Given the description of an element on the screen output the (x, y) to click on. 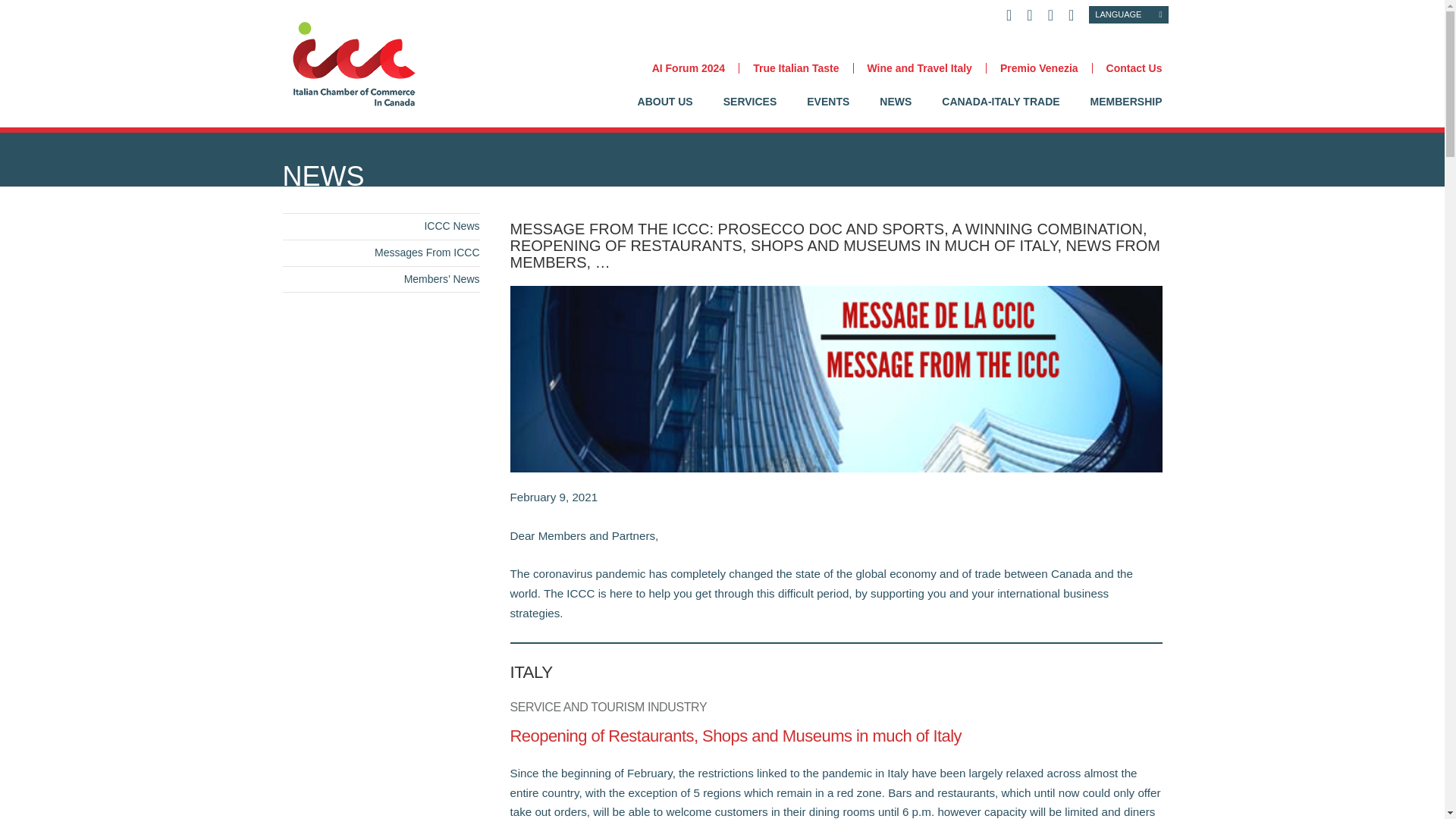
CANADA-ITALY TRADE (1000, 111)
Wine and Travel Italy (918, 68)
True Italian Taste (794, 68)
ABOUT US (665, 111)
MEMBERSHIP (1125, 111)
SERVICES (750, 111)
NEWS (895, 111)
Contact Us (1126, 68)
ICCC News (451, 225)
Messages From ICCC (426, 252)
